Given the description of an element on the screen output the (x, y) to click on. 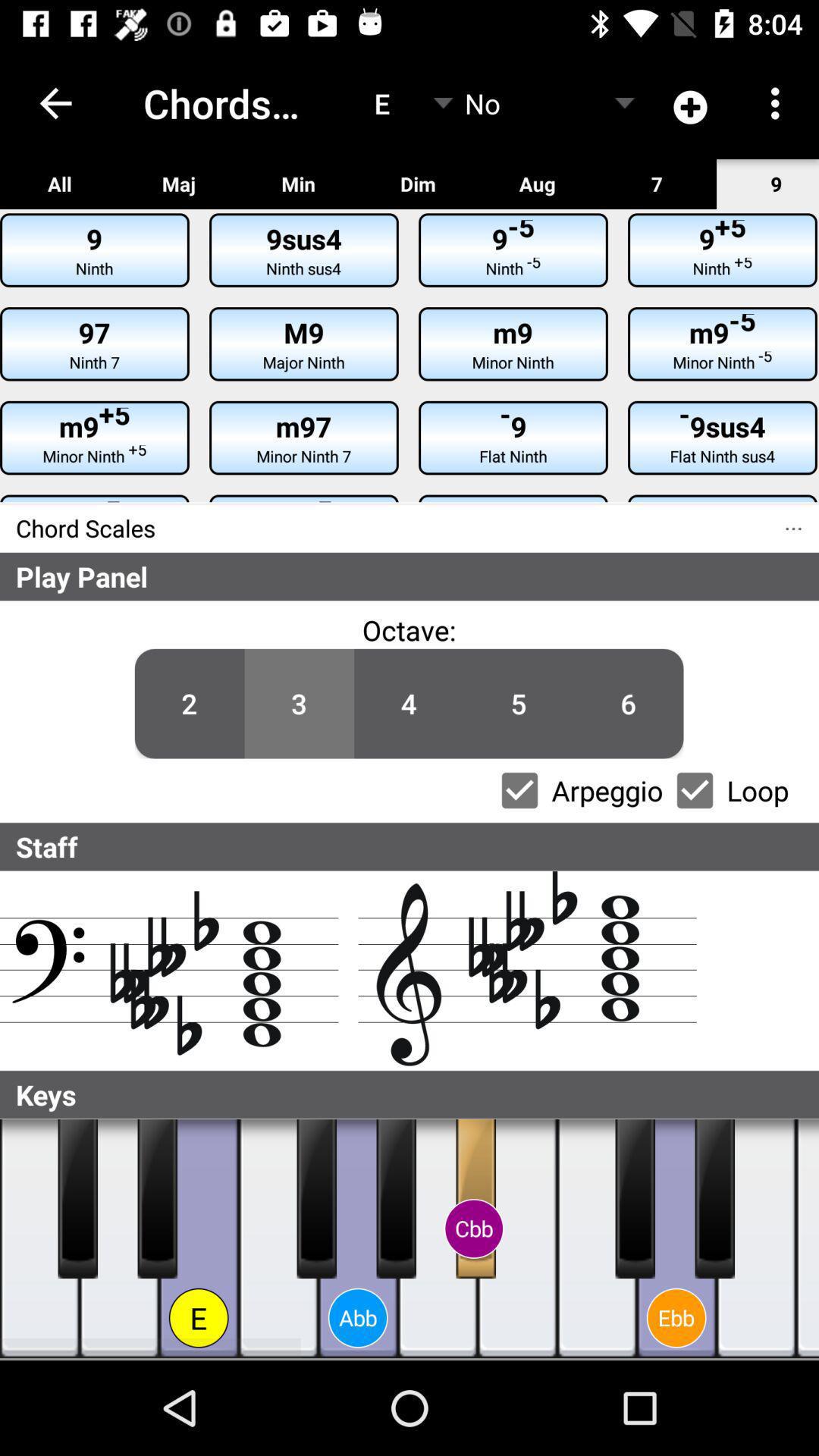
d keyboard key (119, 1238)
